Given the description of an element on the screen output the (x, y) to click on. 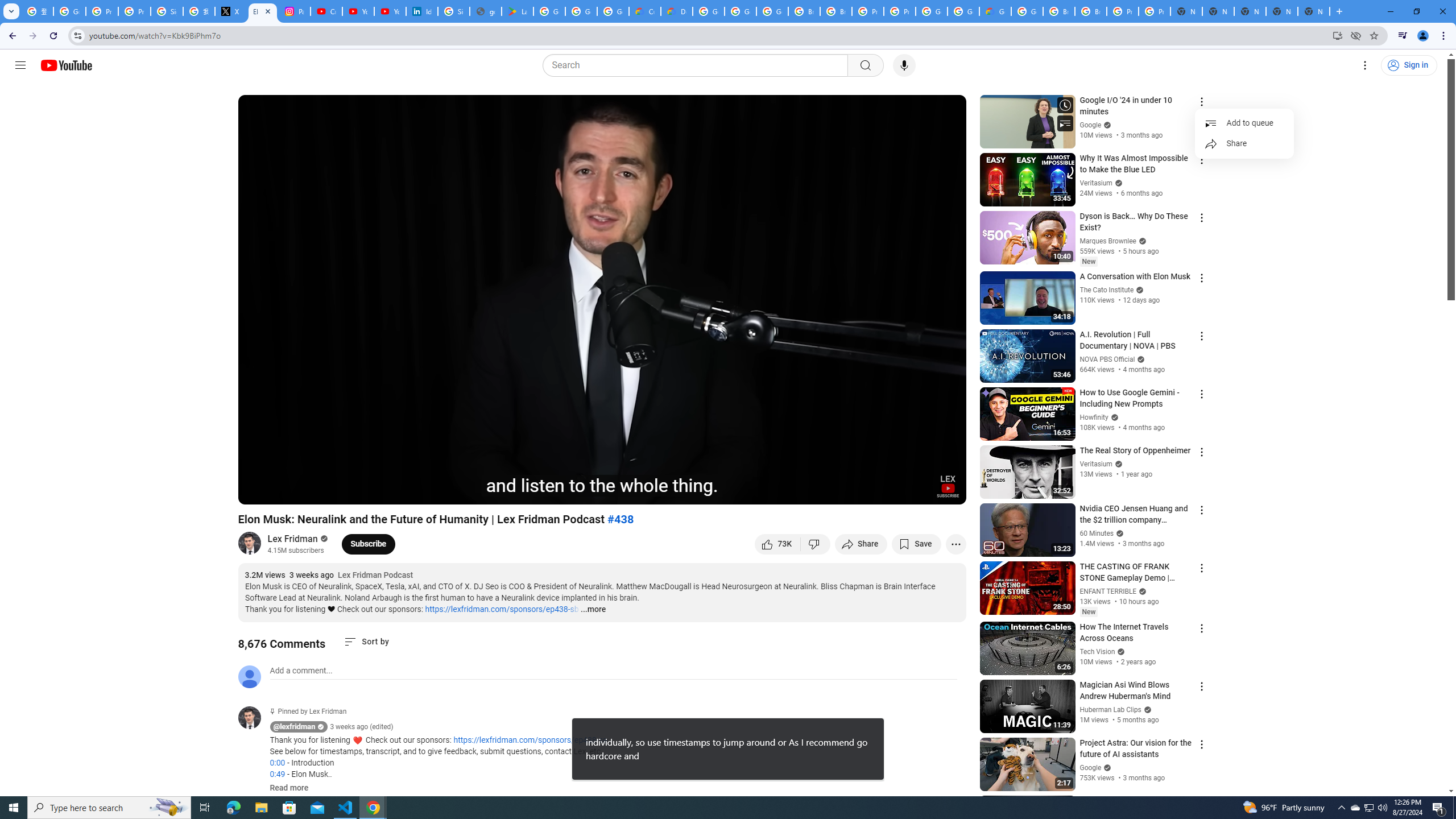
AutomationID: simplebox-placeholder (301, 670)
Verified (1106, 767)
Guide (20, 65)
Privacy Help Center - Policies Help (134, 11)
Seek slider (601, 476)
0:49 (277, 773)
Google Cloud Platform (931, 11)
Autoplay is on (808, 490)
Add to queue (1243, 123)
